Given the description of an element on the screen output the (x, y) to click on. 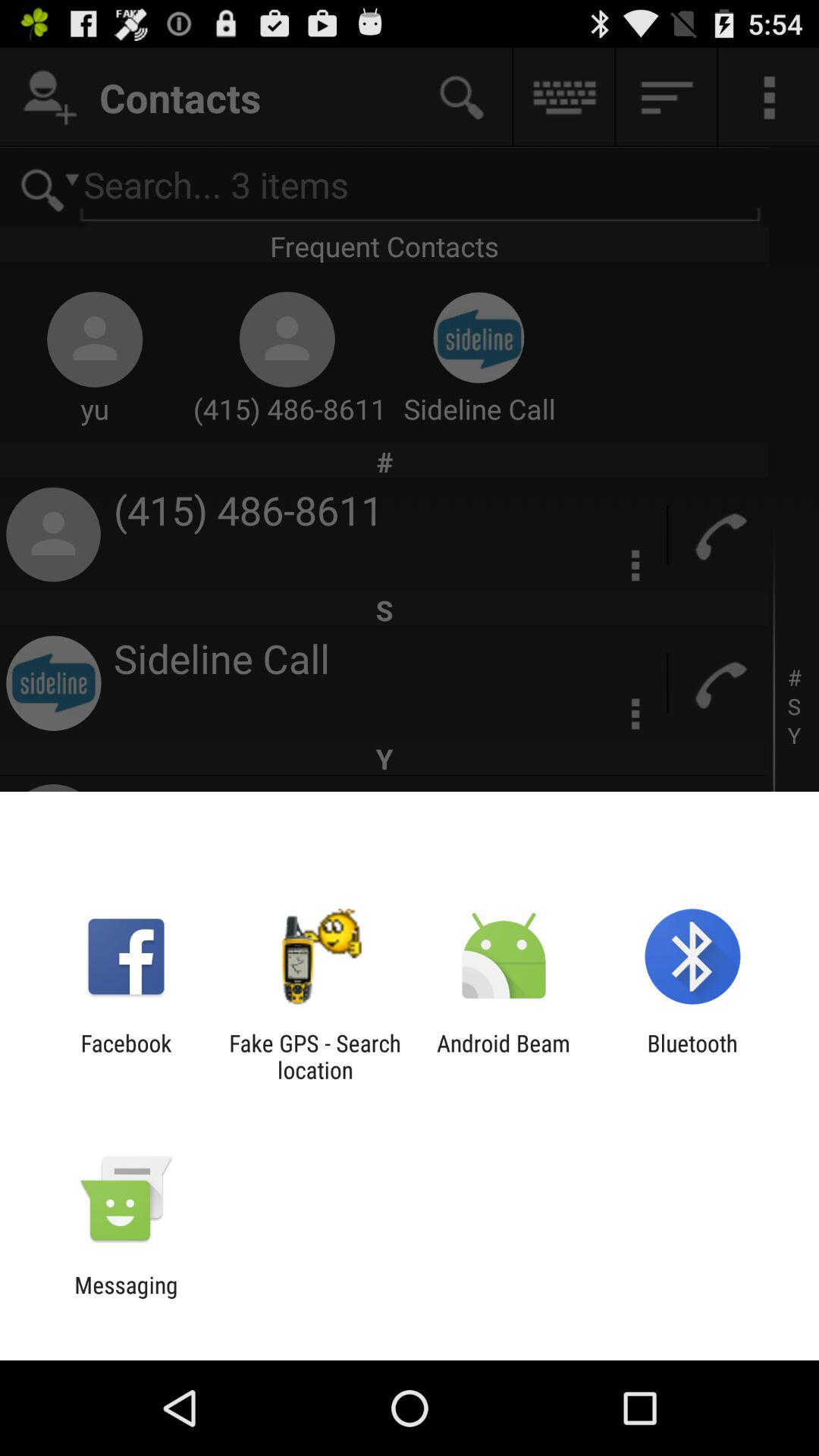
turn on the app to the left of fake gps search (125, 1056)
